Given the description of an element on the screen output the (x, y) to click on. 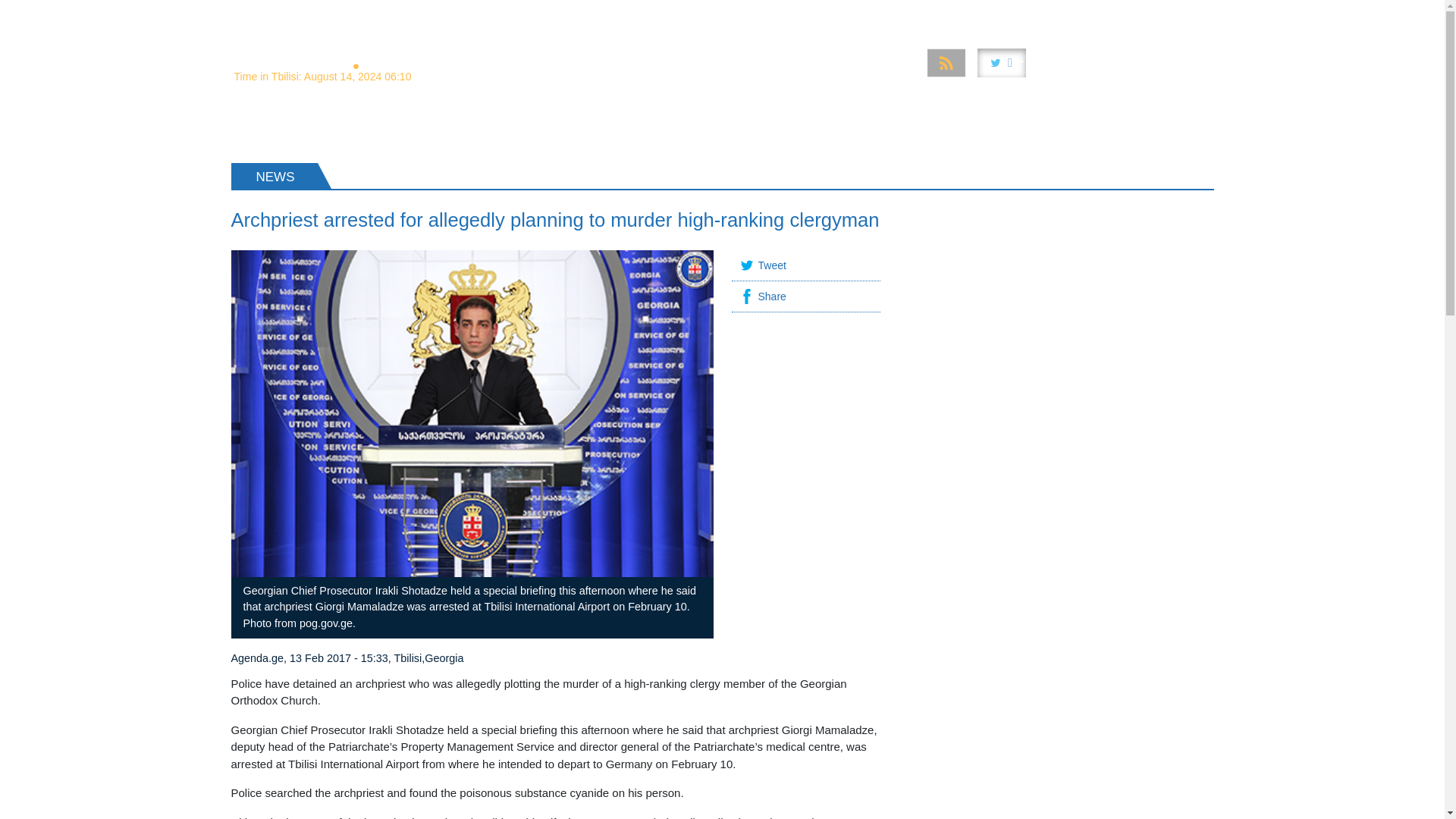
NEWS (262, 126)
Blogs (1187, 14)
Government (751, 14)
Special Reports (656, 14)
Pressscanner (1116, 14)
Life (1050, 14)
Analysis (571, 14)
In Pictures (911, 14)
Home (512, 14)
Infographic (990, 14)
